Given the description of an element on the screen output the (x, y) to click on. 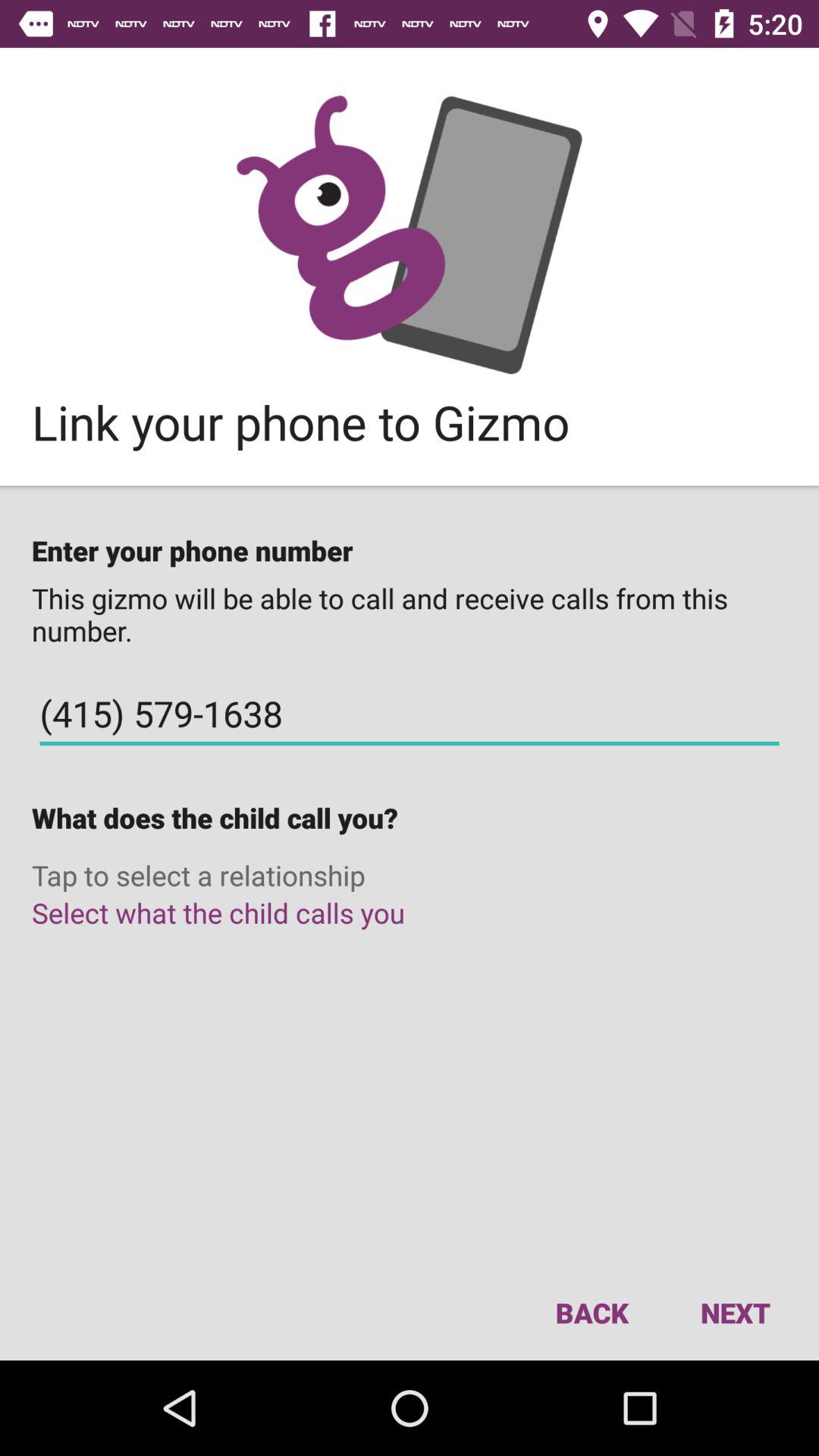
goto gizmo (409, 234)
